Given the description of an element on the screen output the (x, y) to click on. 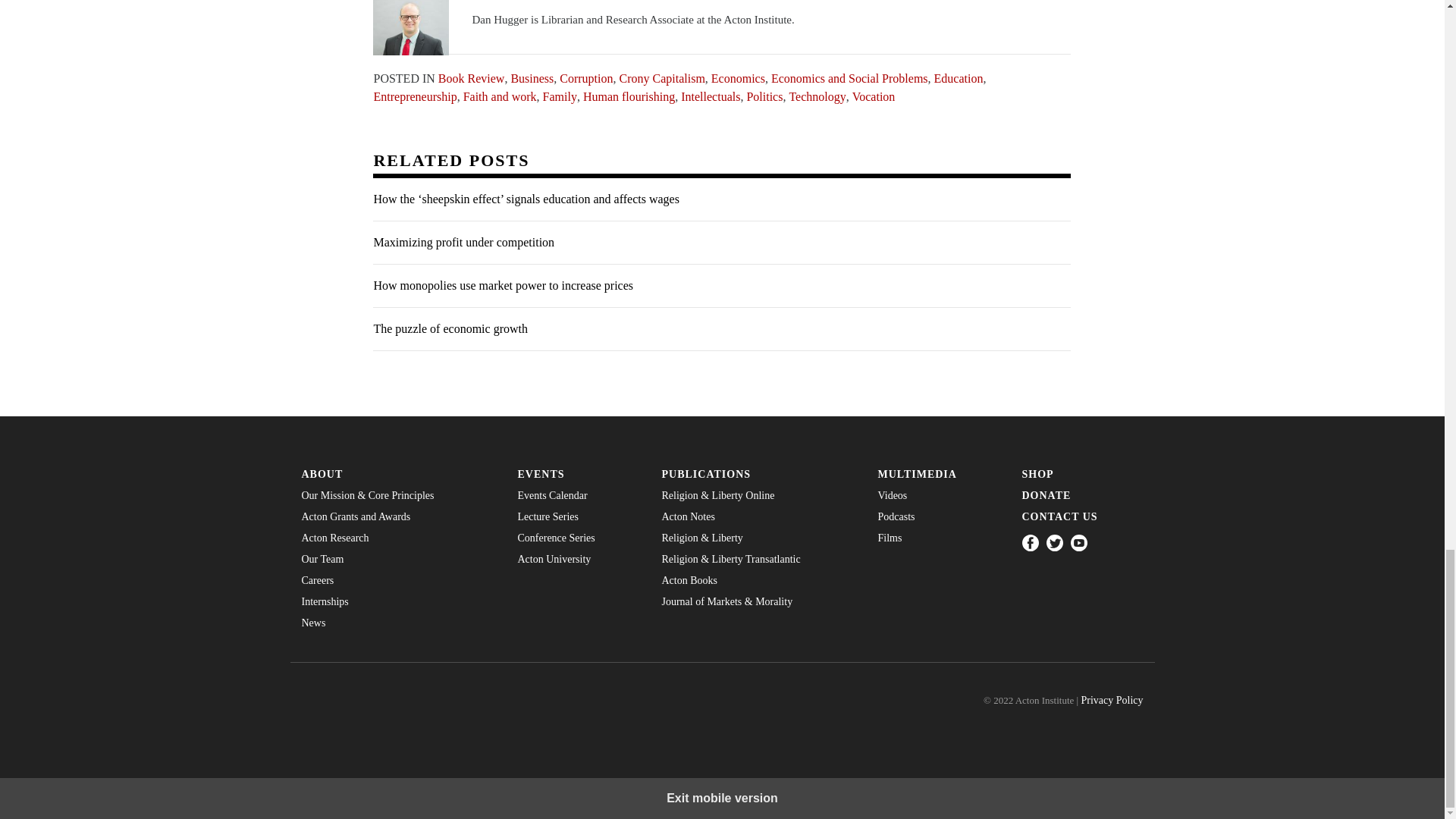
Corruption (585, 77)
Economics and Social Problems (849, 77)
The puzzle of economic growth (721, 329)
Family (559, 95)
Entrepreneurship (414, 95)
Maximizing profit under competition (721, 242)
Human flourishing (629, 95)
How monopolies use market power to increase prices (721, 285)
Economics (738, 77)
Intellectuals (710, 95)
